Given the description of an element on the screen output the (x, y) to click on. 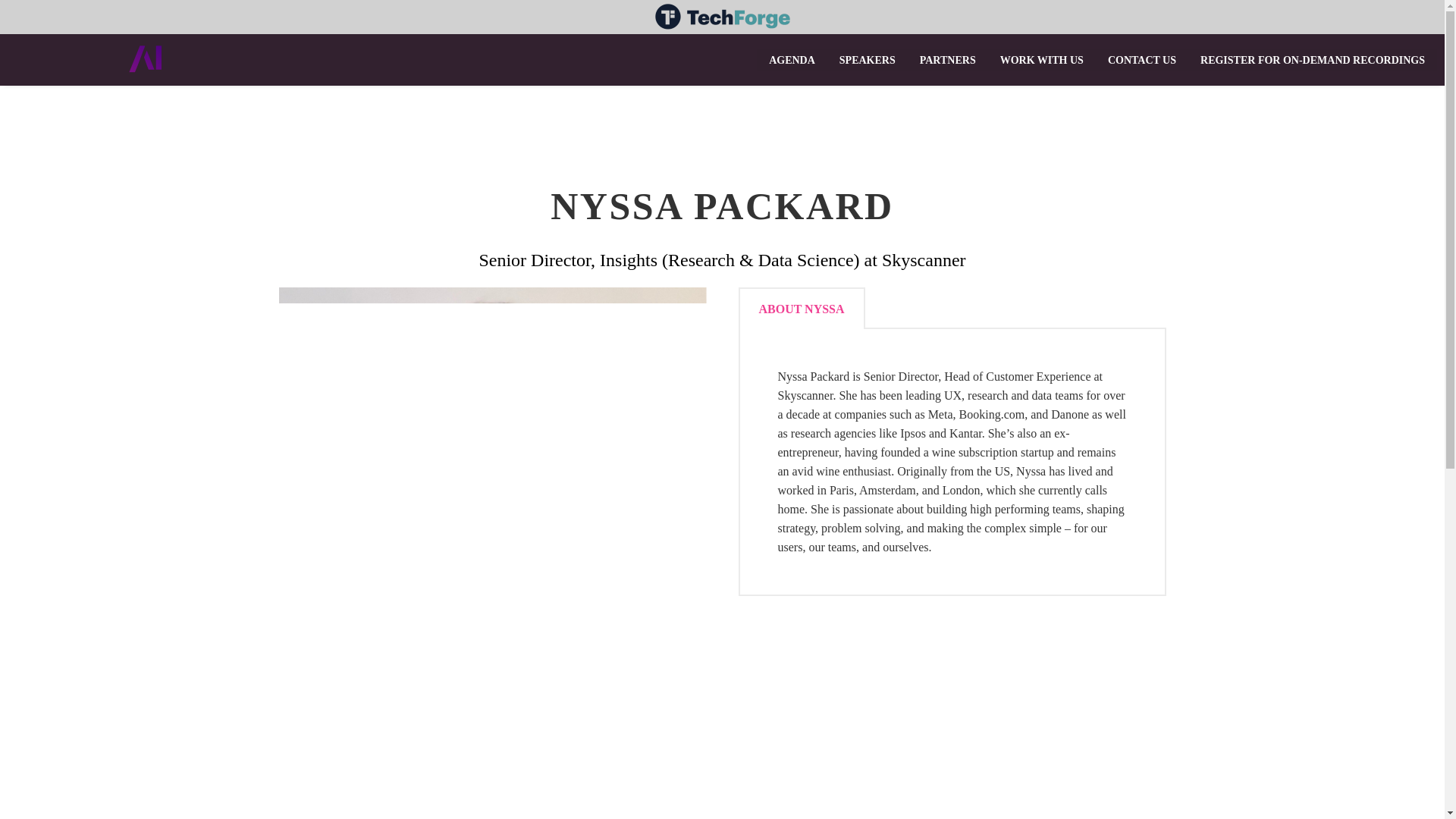
AGENDA (792, 59)
PARTNERS (947, 59)
SPEAKERS (867, 59)
techforge-partner (721, 22)
WORK WITH US (1042, 59)
ABOUT NYSSA (801, 308)
REGISTER FOR ON-DEMAND RECORDINGS (1312, 59)
CONTACT US (1142, 59)
